Given the description of an element on the screen output the (x, y) to click on. 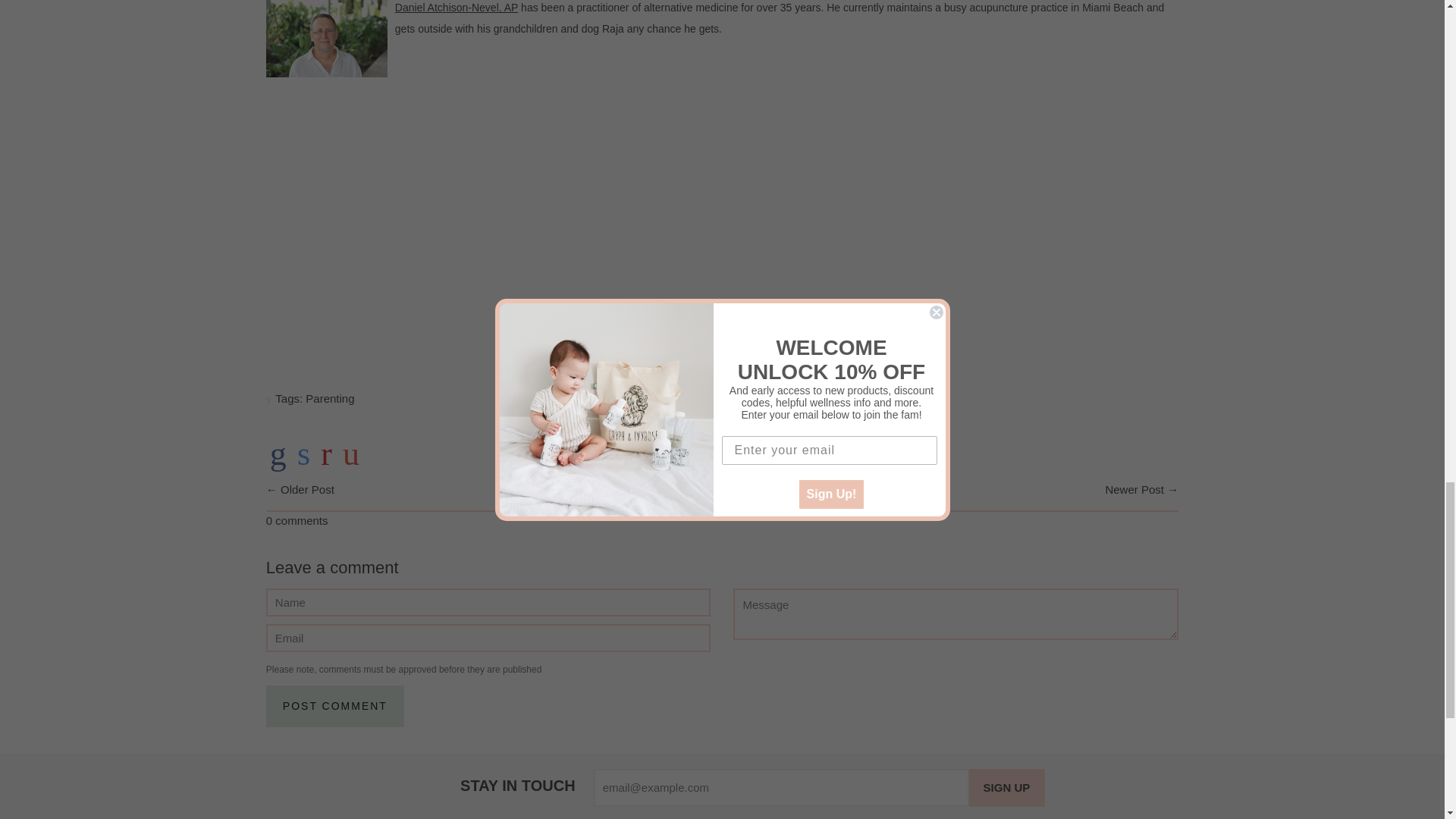
Post comment (335, 706)
